Given the description of an element on the screen output the (x, y) to click on. 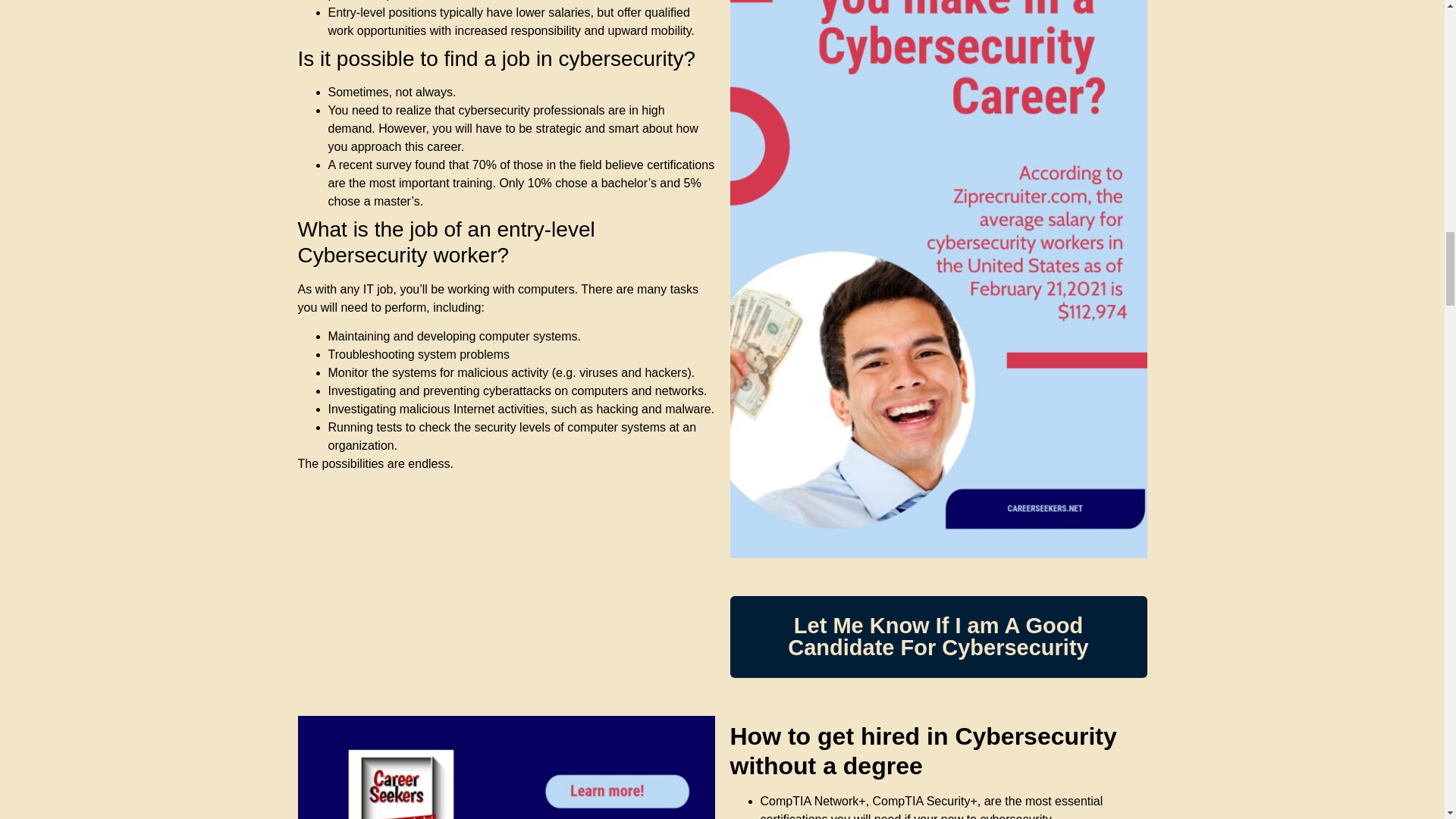
Let Me Know If I am A Good Candidate For Cybersecurity (938, 637)
